Given the description of an element on the screen output the (x, y) to click on. 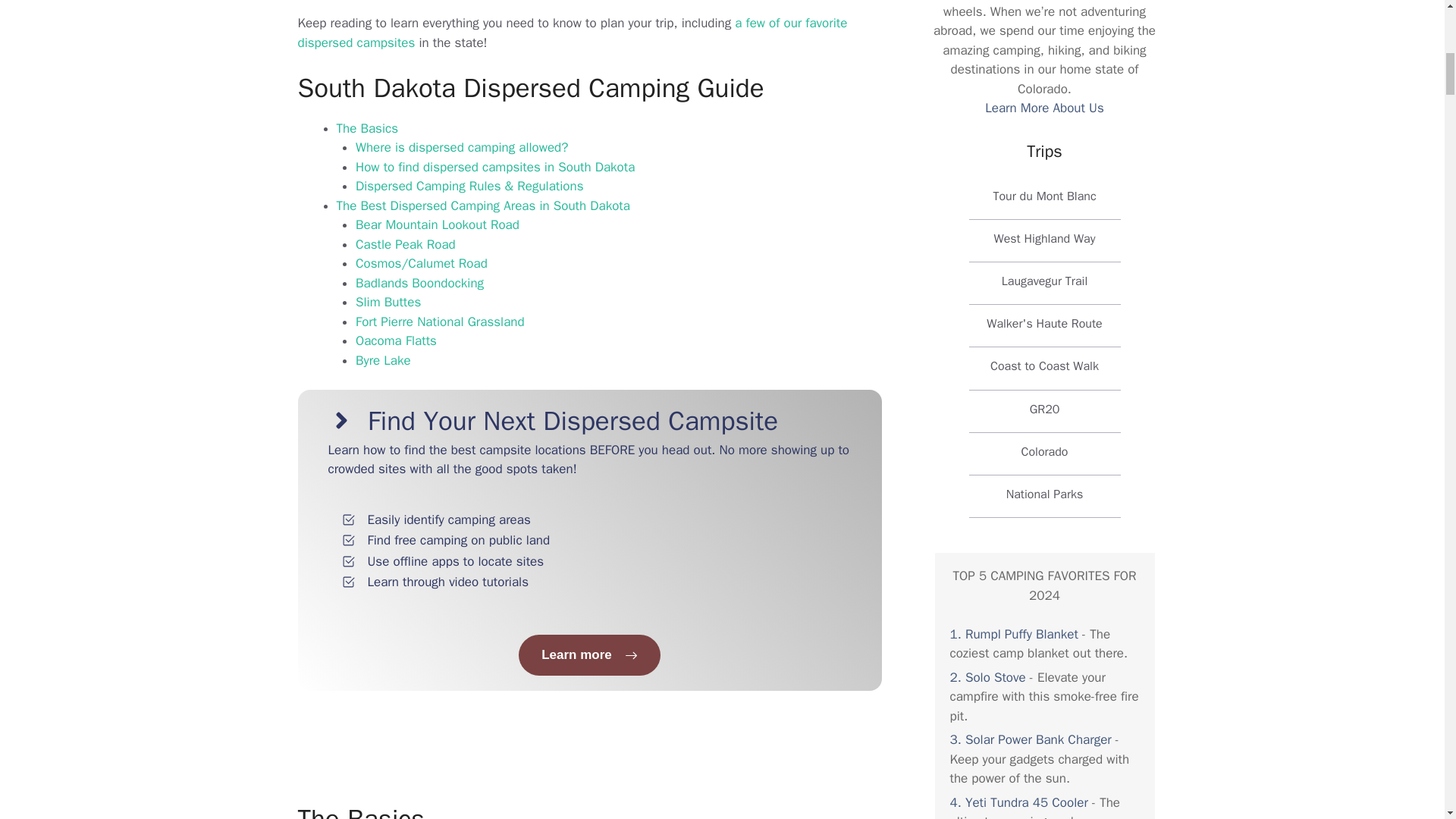
Byre Lake (382, 360)
Dispersed-Campsite-Course-3 (714, 551)
How to find dispersed campsites in South Dakota (494, 166)
Bear Mountain Lookout Road (437, 224)
Slim Buttes (387, 302)
The Basics (367, 128)
Oacoma Flatts (395, 340)
Where is dispersed camping allowed? (461, 147)
The Best Dispersed Camping Areas in South Dakota (483, 205)
Learn more (589, 654)
